Given the description of an element on the screen output the (x, y) to click on. 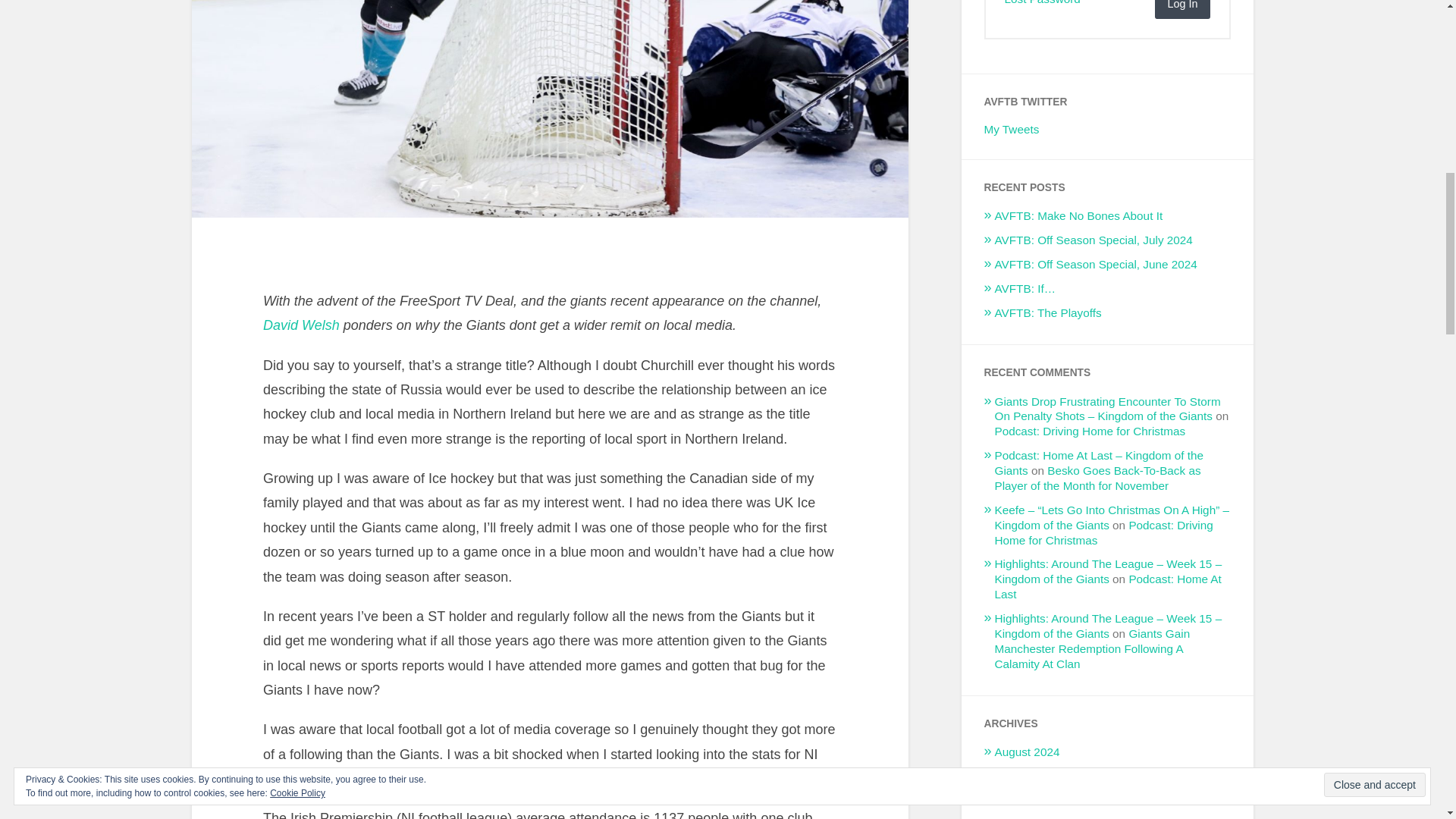
David Welsh (301, 324)
Podcast: Driving Home for Christmas (1103, 532)
My Tweets (1011, 128)
AVFTB: Off Season Special, June 2024 (1095, 264)
Lost Password (1042, 2)
Podcast: Driving Home for Christmas (1090, 431)
Lost Password (1042, 2)
AVFTB: The Playoffs (1048, 312)
AVFTB: Make No Bones About It (1078, 215)
Podcast: Home At Last (1107, 586)
